Given the description of an element on the screen output the (x, y) to click on. 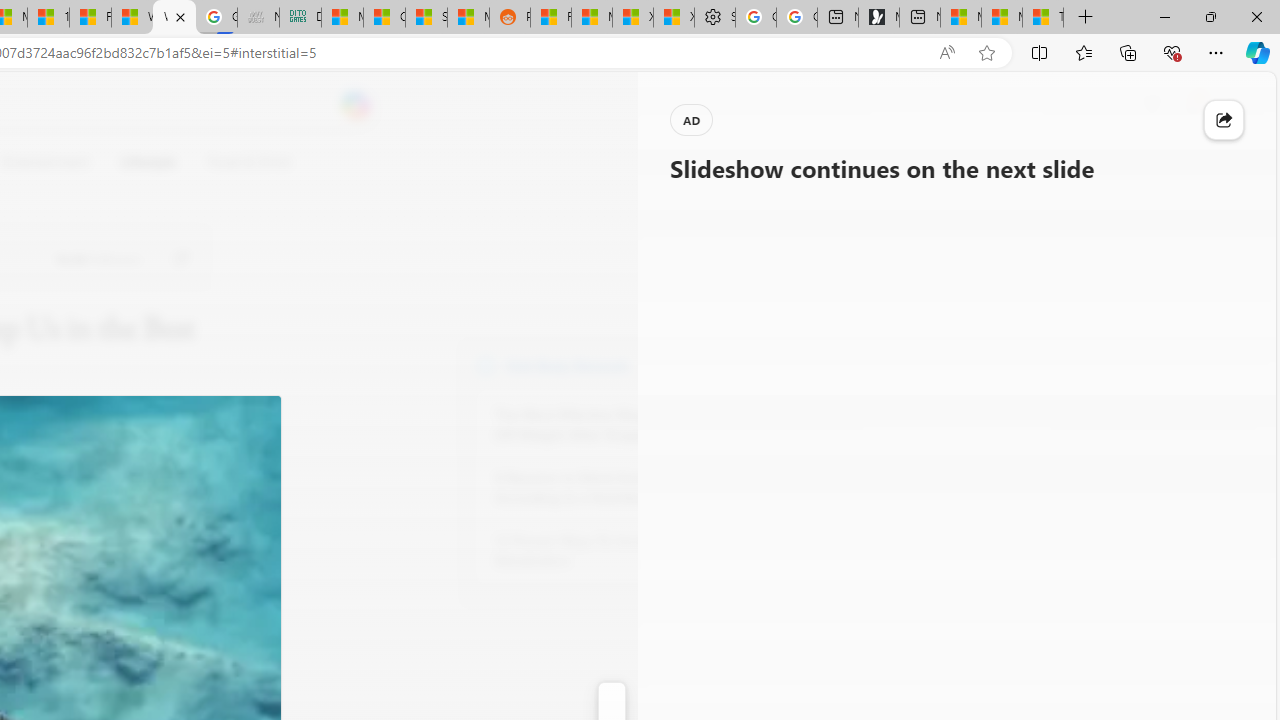
Visit Body Network website (733, 364)
These 3 Stocks Pay You More Than 5% to Own Them (1042, 17)
Fitness - MSN (90, 17)
